Given the description of an element on the screen output the (x, y) to click on. 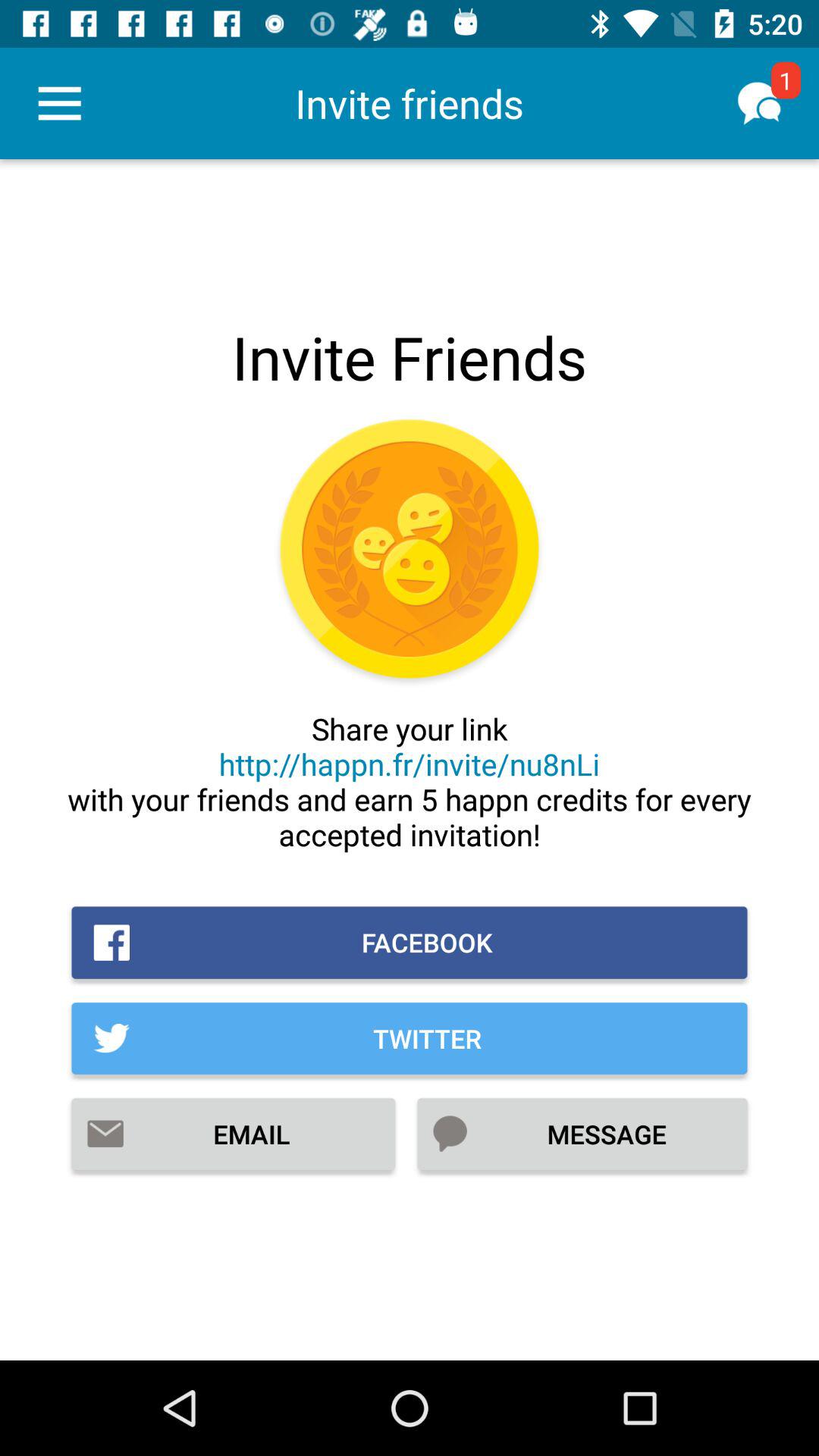
open facebook item (409, 942)
